Given the description of an element on the screen output the (x, y) to click on. 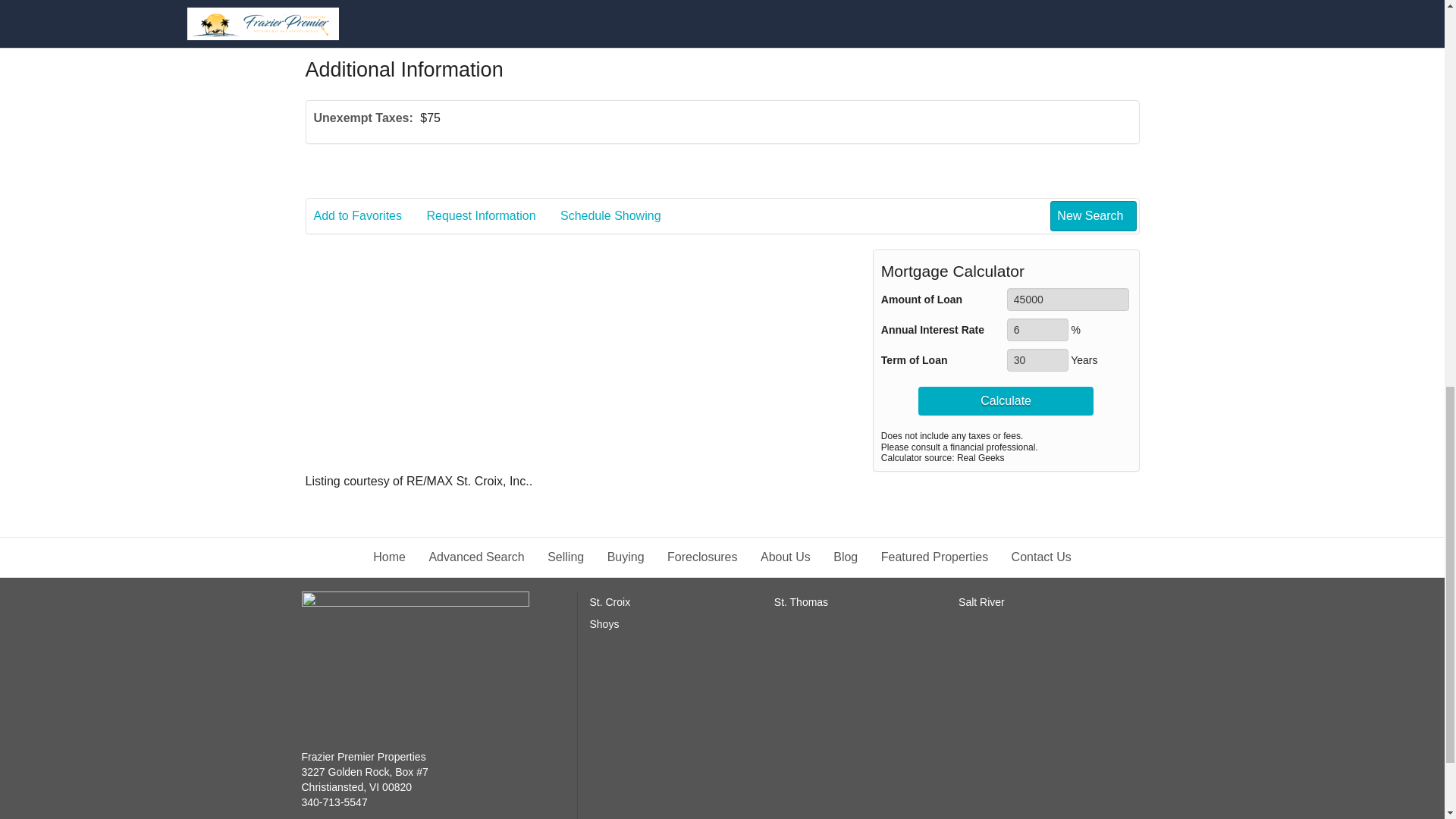
45000 (1068, 299)
Schedule Showing (999, 2)
6 (1037, 329)
30 (1037, 359)
